Given the description of an element on the screen output the (x, y) to click on. 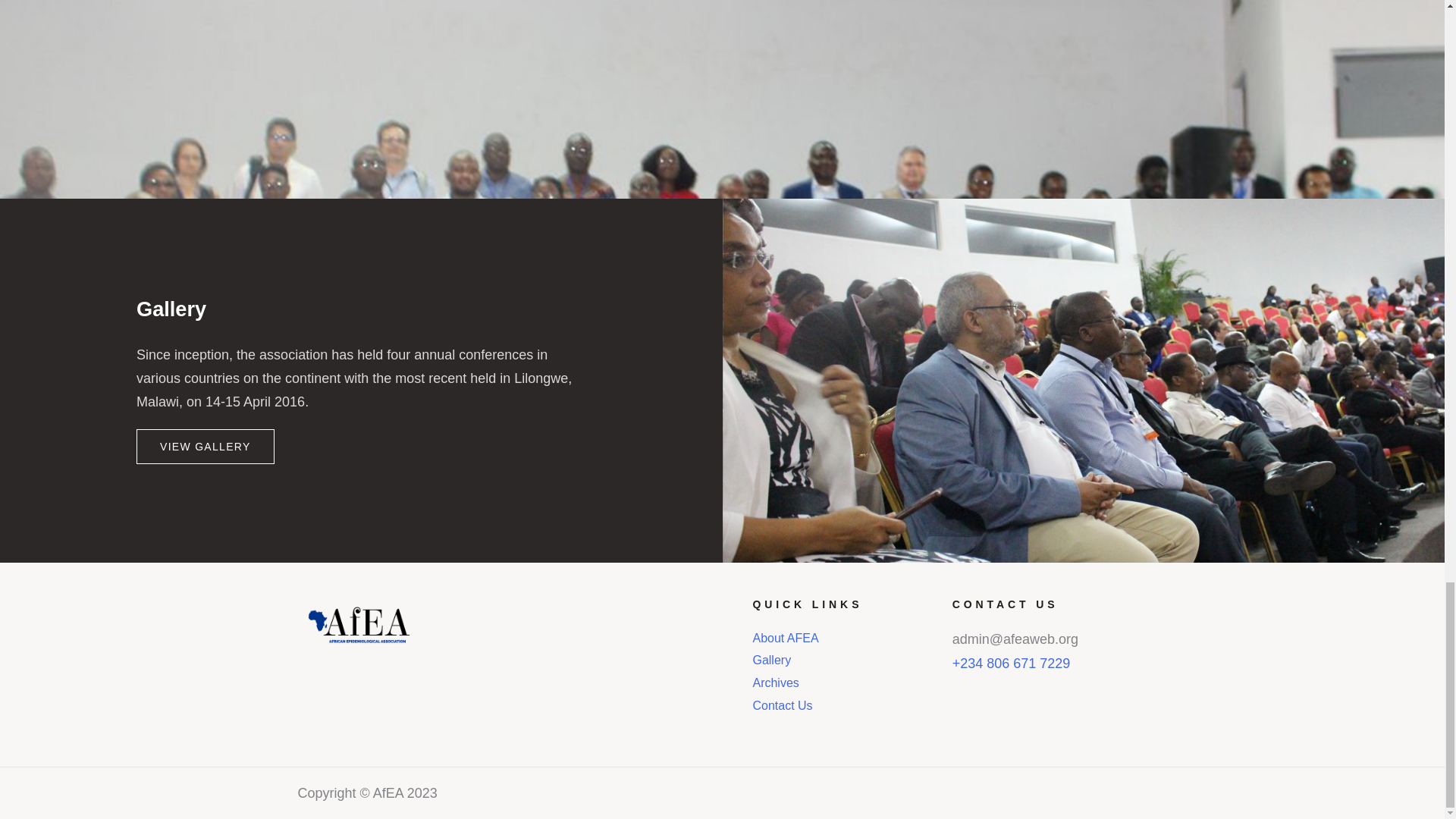
Archives (844, 682)
VIEW GALLERY (205, 446)
Gallery (844, 660)
About AFEA (844, 638)
Contact Us (844, 705)
